Given the description of an element on the screen output the (x, y) to click on. 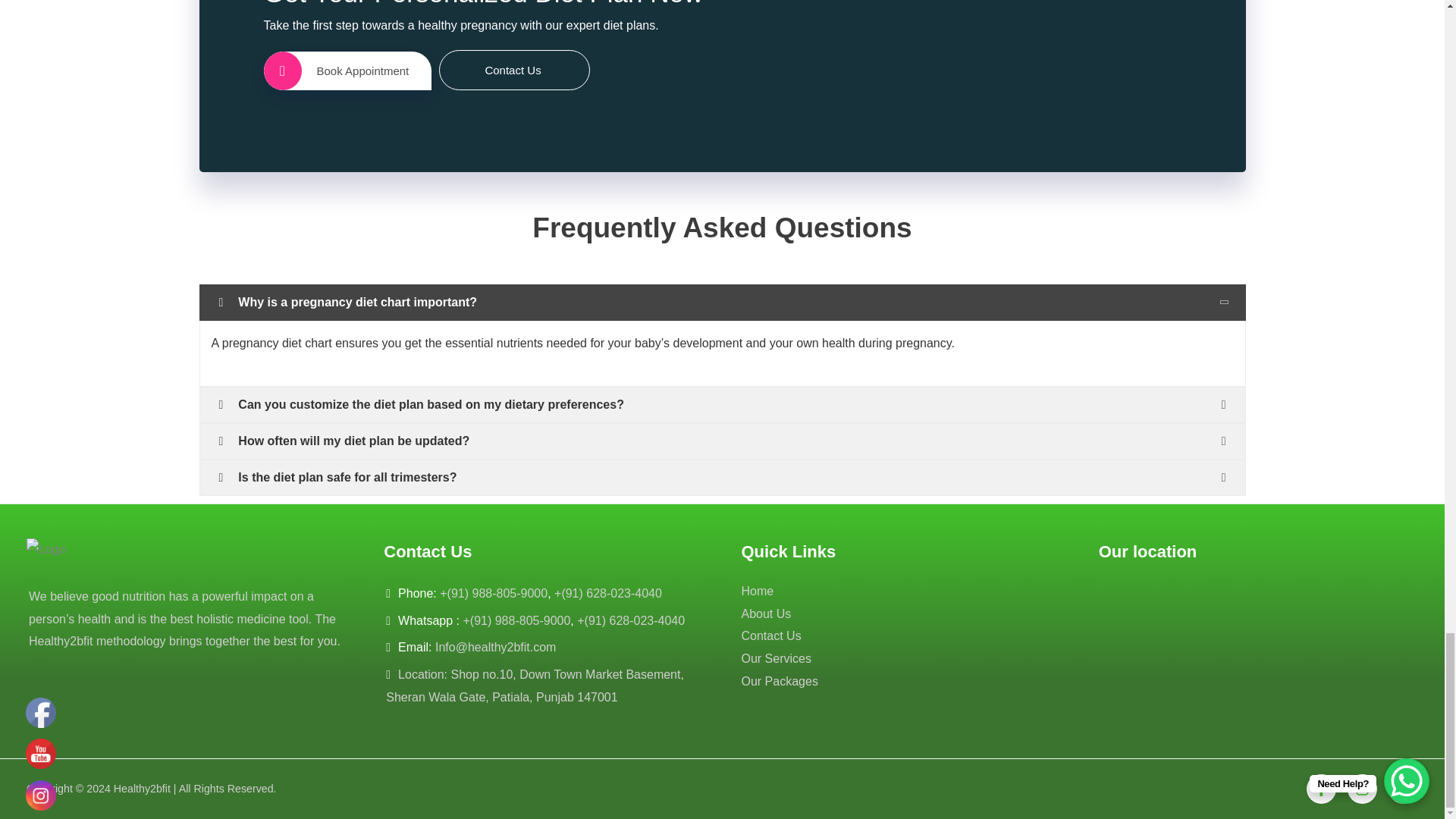
Instagram (41, 795)
YouTube (41, 753)
Facebook (41, 712)
